Given the description of an element on the screen output the (x, y) to click on. 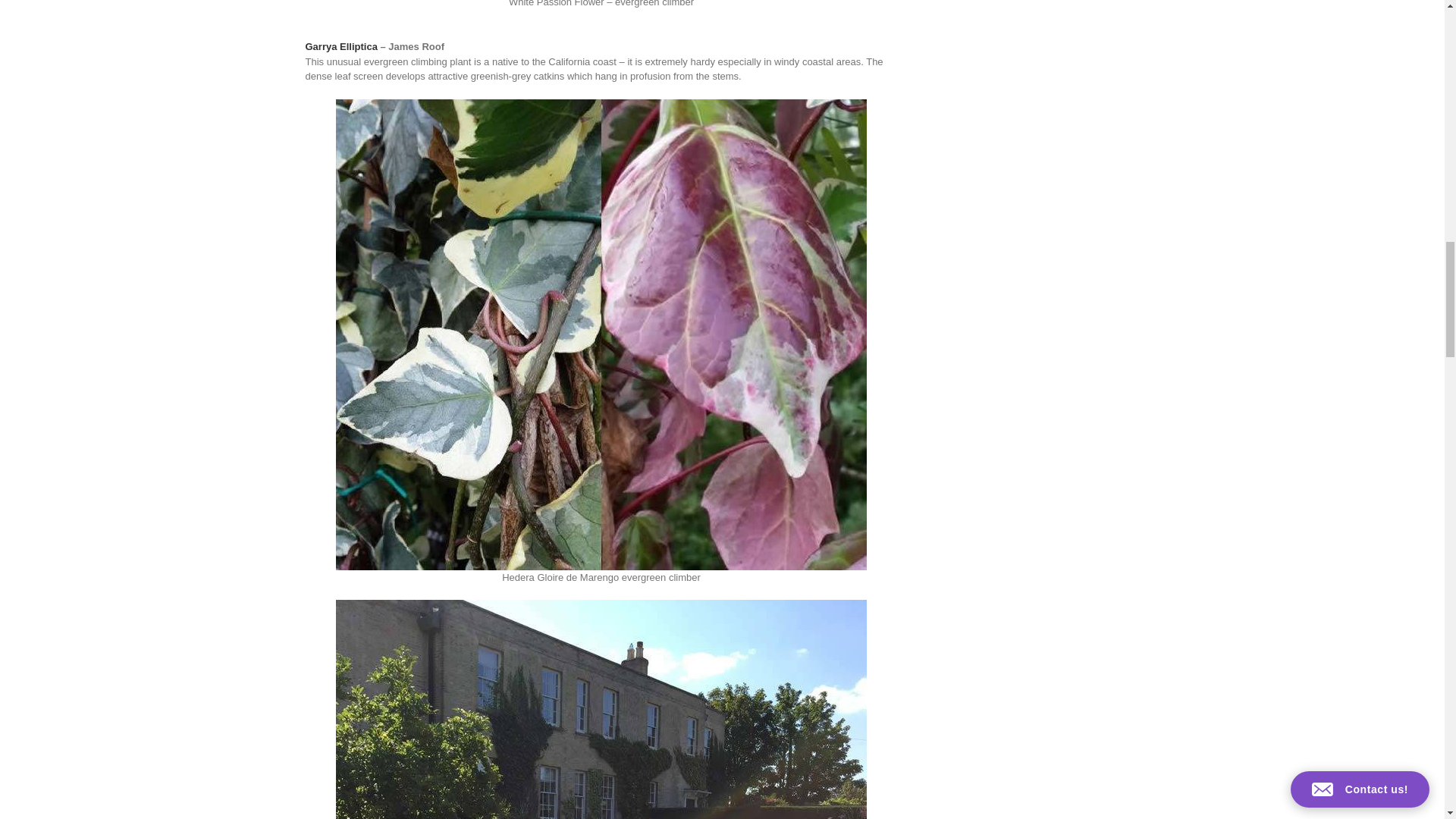
Hedera will grow against a wall creating a wall of green (601, 709)
